Given the description of an element on the screen output the (x, y) to click on. 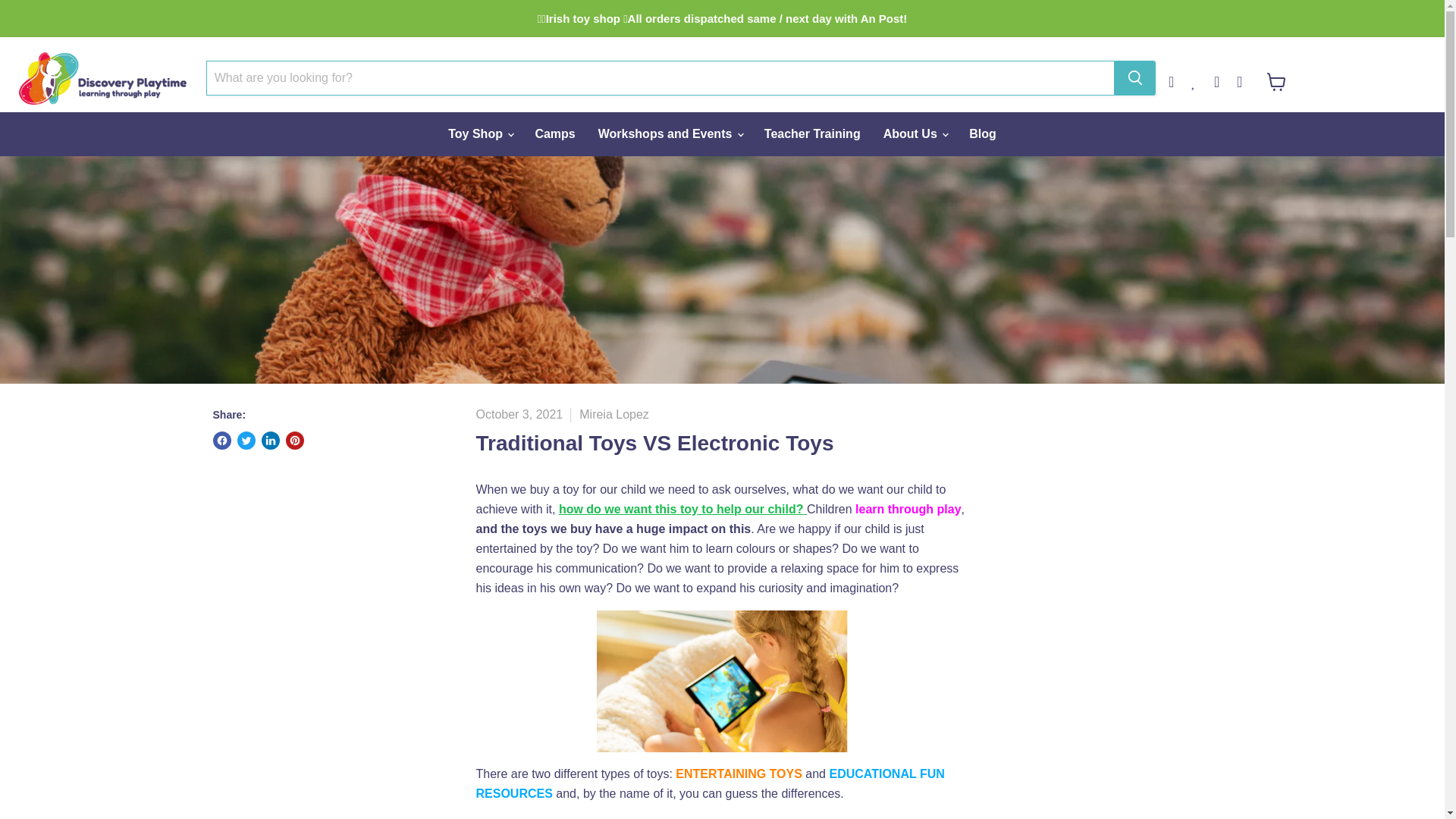
Instagram (1247, 77)
Blog (982, 133)
View cart (1275, 81)
Camps (554, 133)
Facebook (1225, 77)
Teacher Training (812, 133)
My Account (1180, 77)
wishlist (1202, 77)
